Given the description of an element on the screen output the (x, y) to click on. 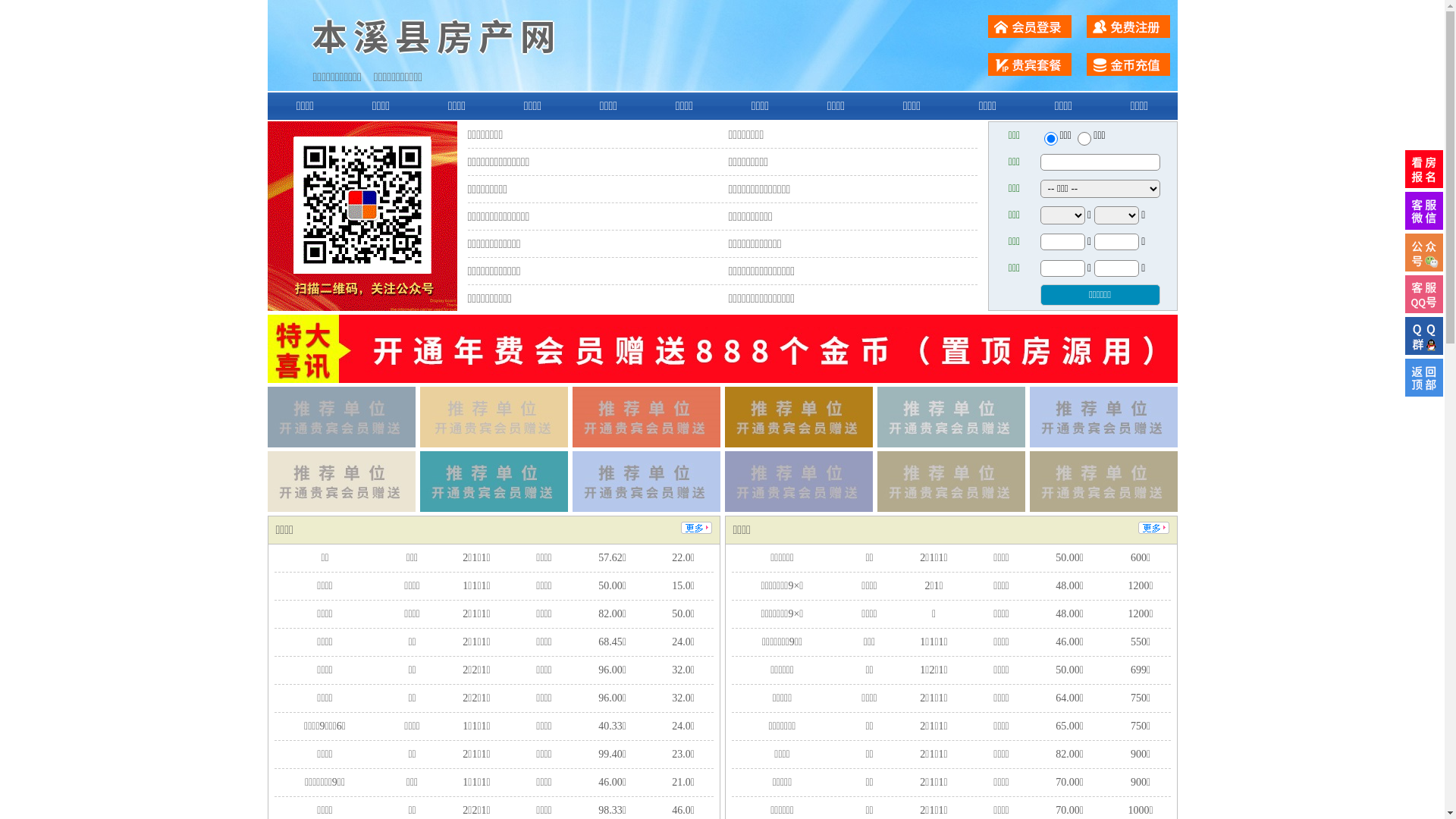
chuzu Element type: text (1084, 138)
ershou Element type: text (1050, 138)
